Given the description of an element on the screen output the (x, y) to click on. 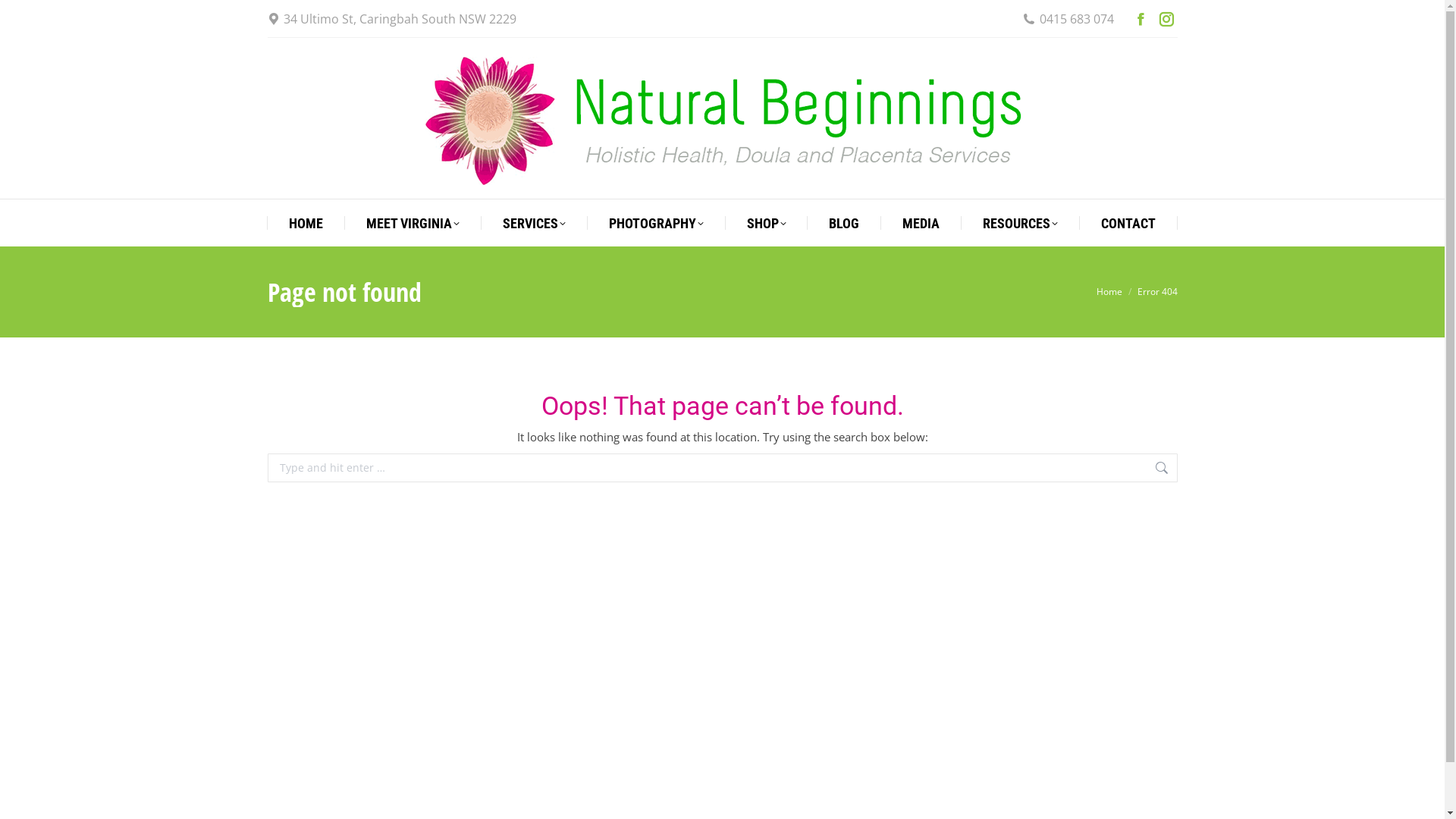
Facebook page opens in new window Element type: text (1139, 18)
Go! Element type: text (1201, 469)
SERVICES Element type: text (533, 223)
MEET VIRGINIA Element type: text (412, 223)
MEDIA Element type: text (920, 223)
Instagram page opens in new window Element type: text (1165, 18)
Home Element type: text (1109, 291)
BLOG Element type: text (843, 223)
HOME Element type: text (305, 223)
CONTACT Element type: text (1128, 223)
PHOTOGRAPHY Element type: text (655, 223)
SHOP Element type: text (765, 223)
RESOURCES Element type: text (1019, 223)
